Given the description of an element on the screen output the (x, y) to click on. 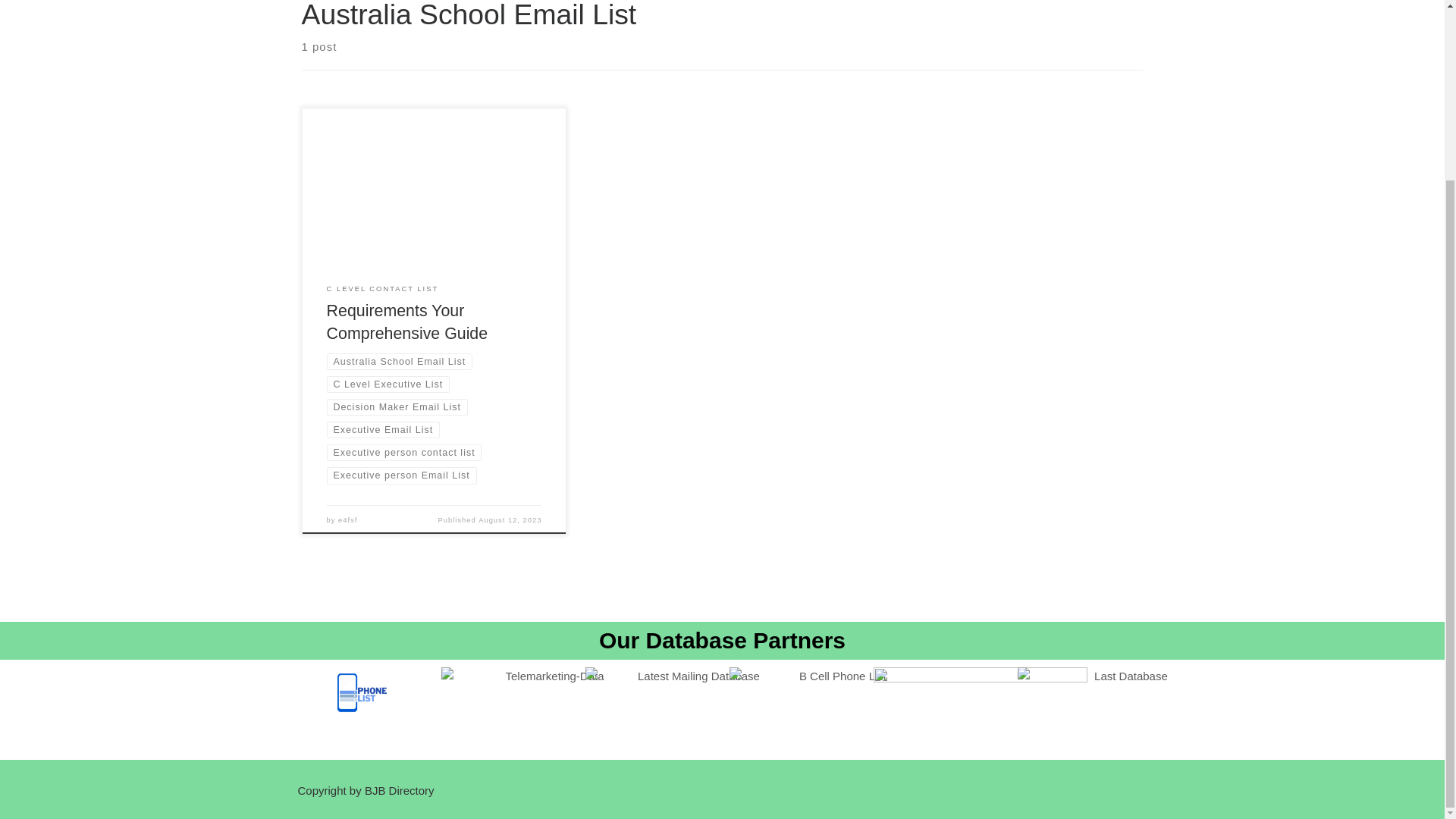
View all posts in Decision Maker Email List (396, 406)
C Level Executive List (387, 384)
View all posts in Executive person Email List (401, 475)
e4fsf (346, 520)
Australia School Email List (398, 361)
BJB Directory (399, 789)
Requirements Your Comprehensive Guide (406, 322)
View all posts by e4fsf (346, 520)
Executive person Email List (401, 475)
